Given the description of an element on the screen output the (x, y) to click on. 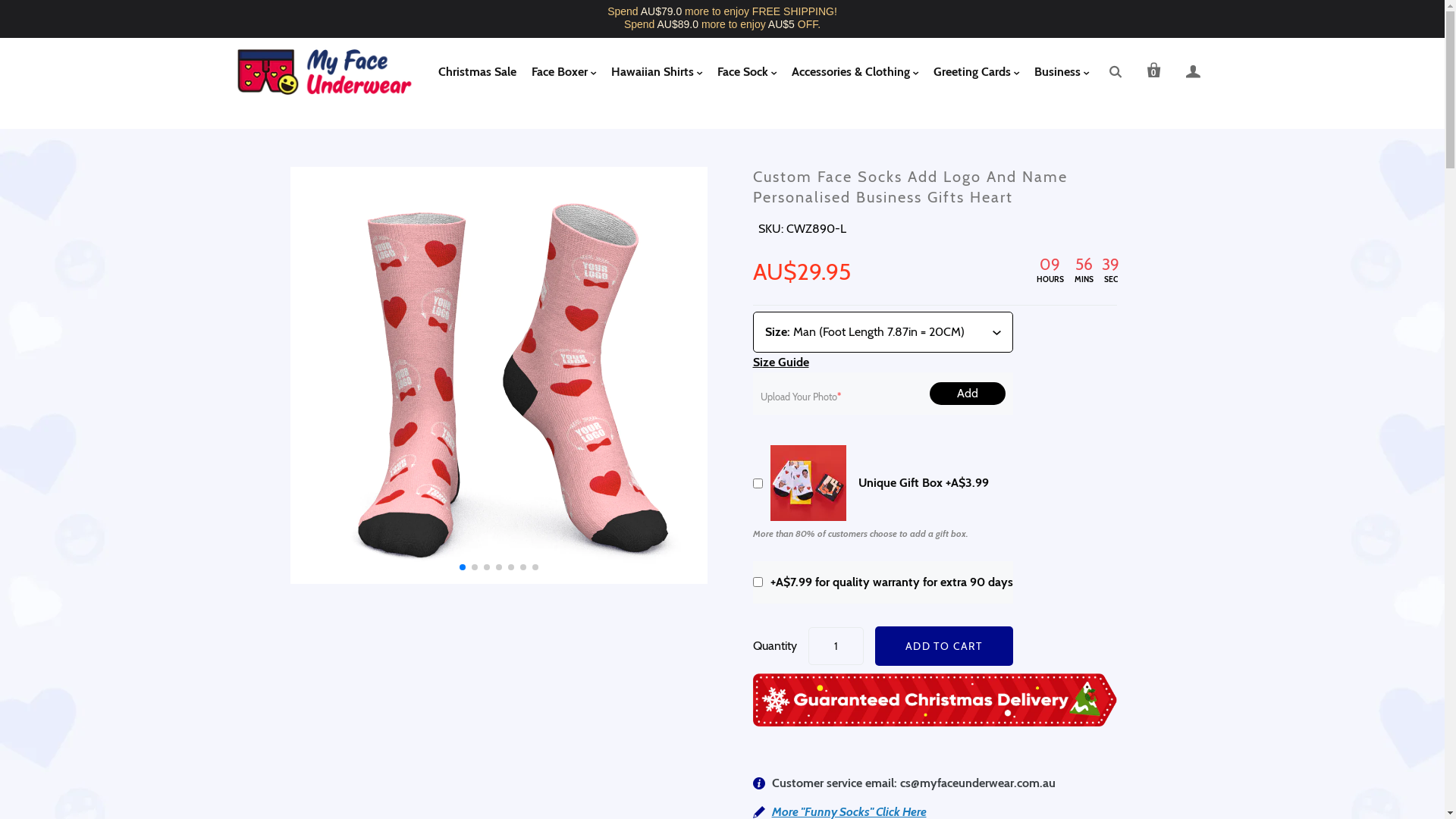
Face Boxer Element type: text (562, 72)
Business Element type: text (1061, 72)
Hawaiian Shirts Element type: text (656, 72)
Greeting Cards Element type: text (975, 72)
Christmas Sale Element type: text (477, 71)
Accessories & Clothing Element type: text (854, 72)
Face Sock Element type: text (746, 72)
ADD TO CART Element type: text (944, 645)
